Given the description of an element on the screen output the (x, y) to click on. 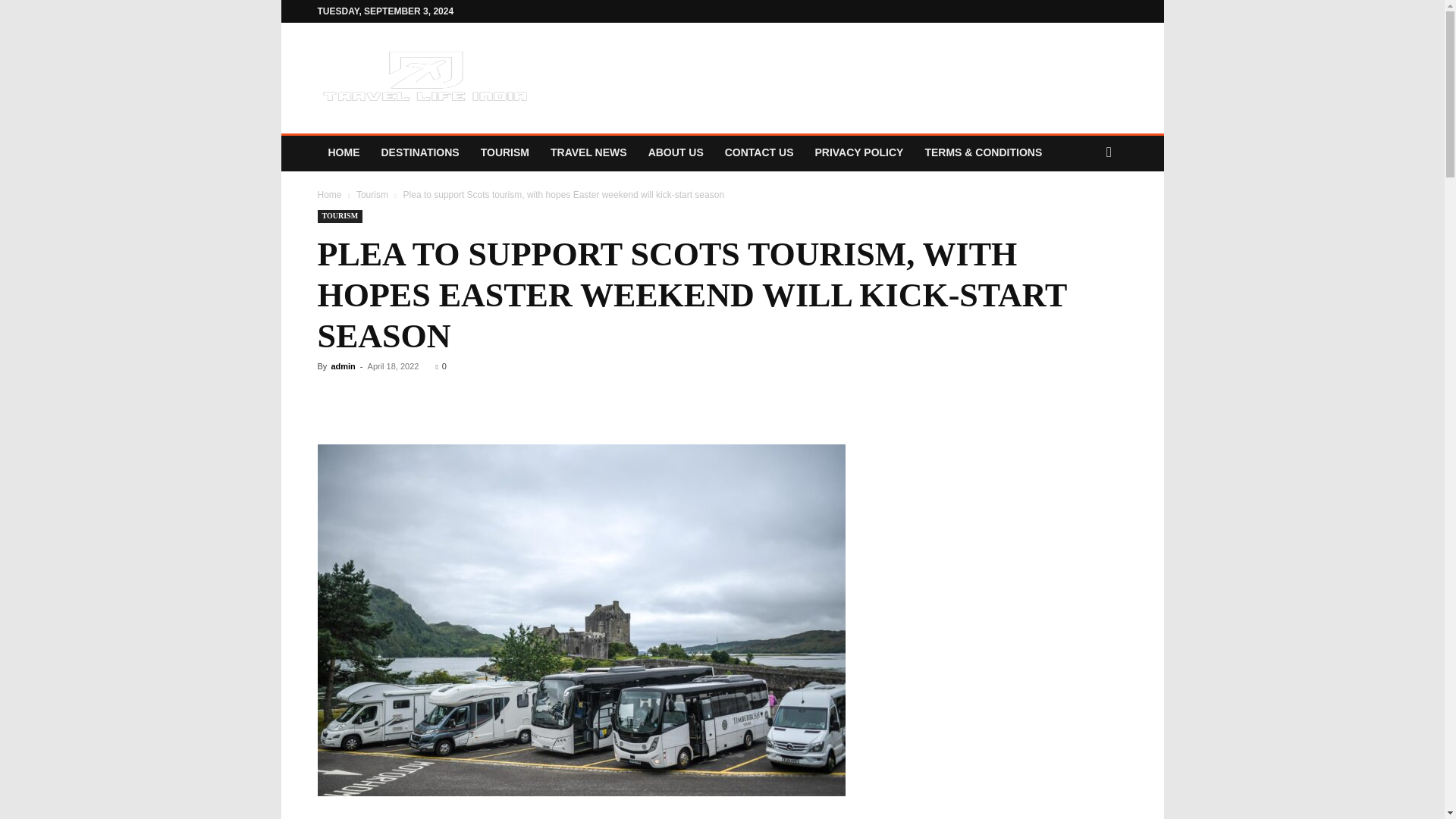
CONTACT US (759, 152)
View all posts in Tourism (372, 194)
Search (1080, 213)
DESTINATIONS (418, 152)
ABOUT US (675, 152)
TRAVEL NEWS (588, 152)
0 (440, 366)
HOME (343, 152)
Home (328, 194)
TOURISM (339, 215)
